Given the description of an element on the screen output the (x, y) to click on. 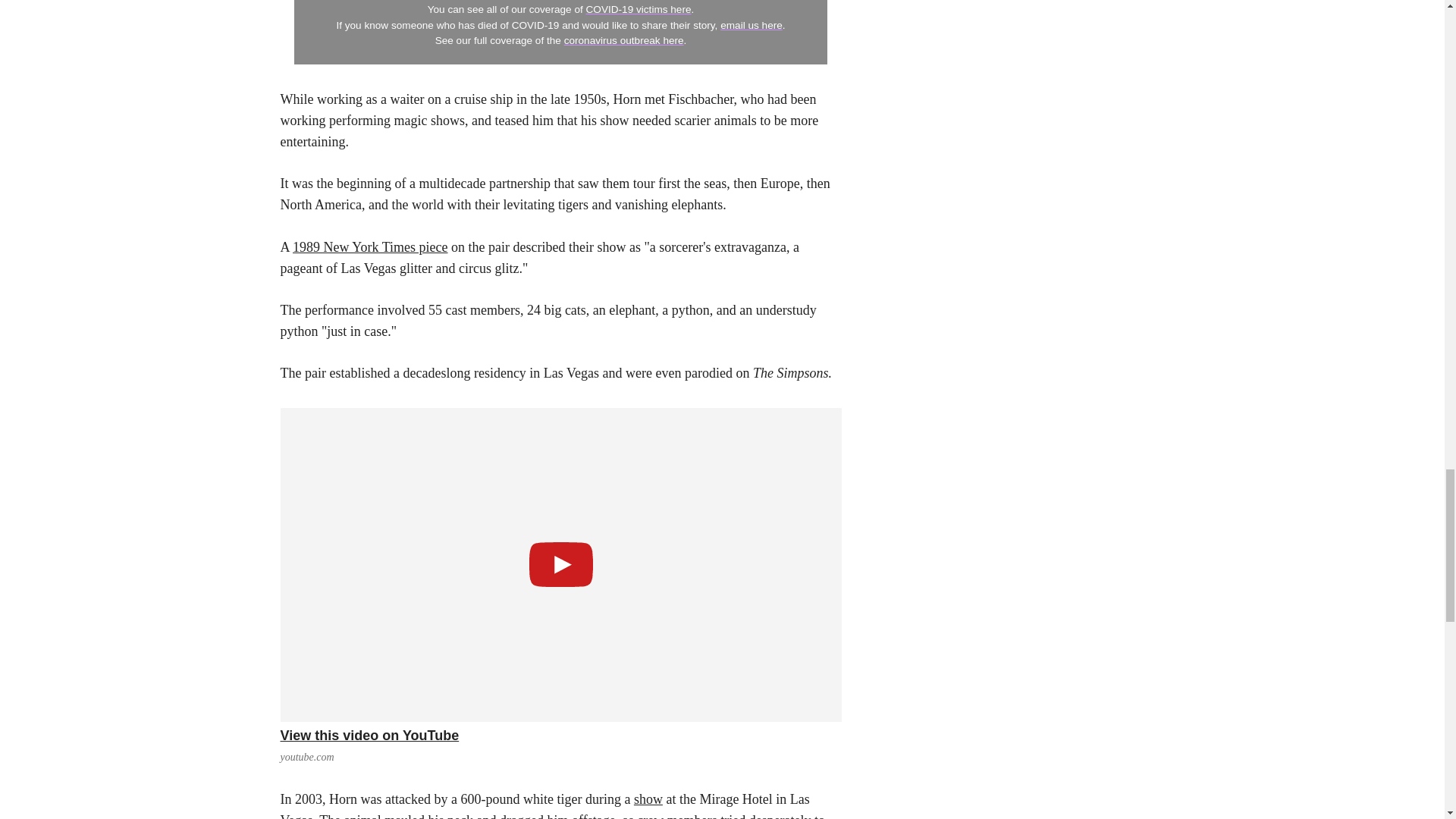
show (647, 798)
1989 New York Times piece (370, 246)
coronavirus outbreak here (624, 40)
View this video on YouTube (561, 736)
email us here (751, 25)
youtube.com (307, 756)
COVID-19 victims here (638, 9)
